Given the description of an element on the screen output the (x, y) to click on. 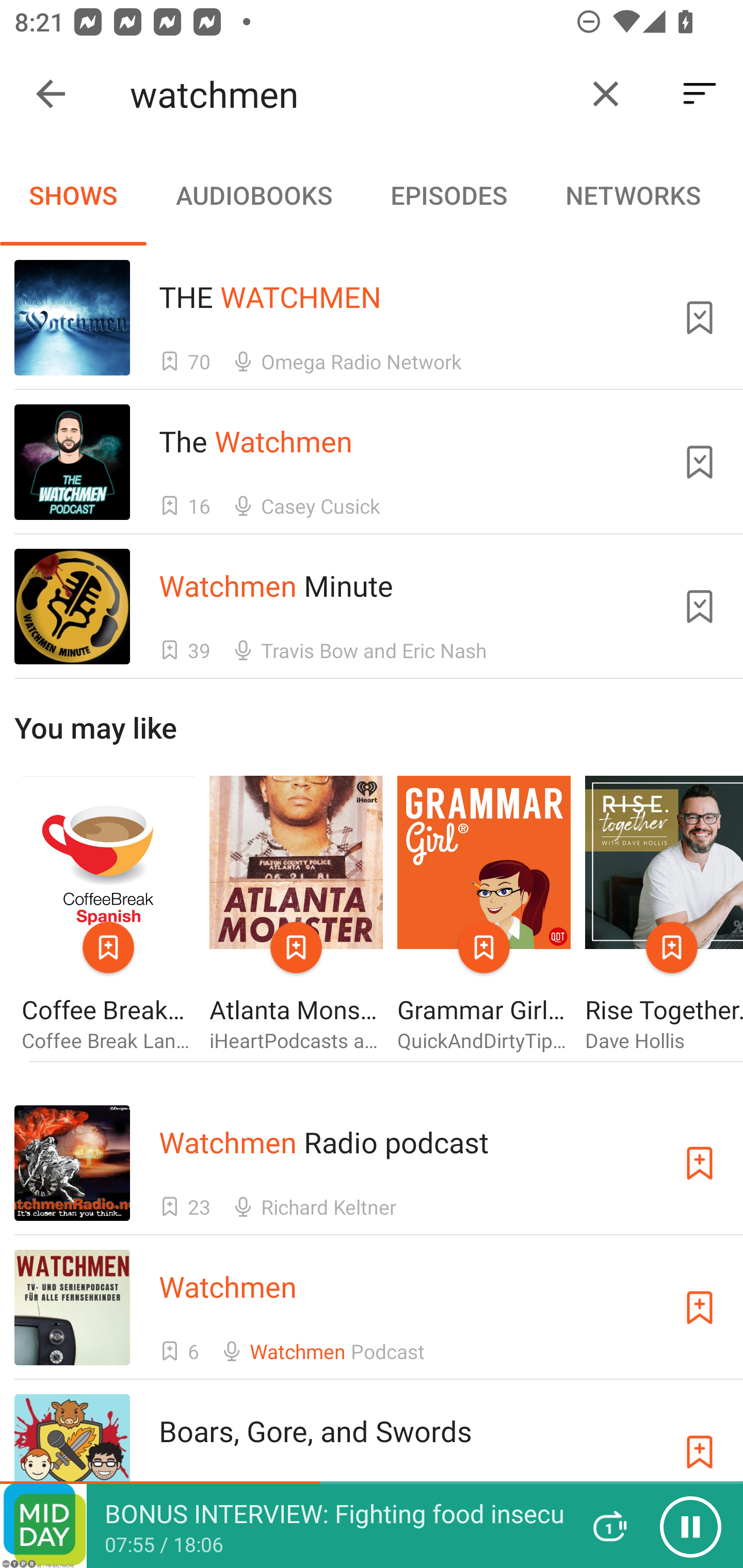
Collapse (50, 93)
Clear query (605, 93)
Sort By (699, 93)
watchmen (349, 94)
SHOWS (73, 195)
AUDIOBOOKS (253, 195)
EPISODES (448, 195)
NETWORKS (632, 195)
Unsubscribe (699, 317)
Unsubscribe (699, 462)
Unsubscribe (699, 606)
Coffee Break Spanish Coffee Break Languages (107, 914)
Atlanta Monster iHeartPodcasts and Tenderfoot TV (295, 914)
Rise Together Podcast Dave Hollis (664, 914)
